Given the description of an element on the screen output the (x, y) to click on. 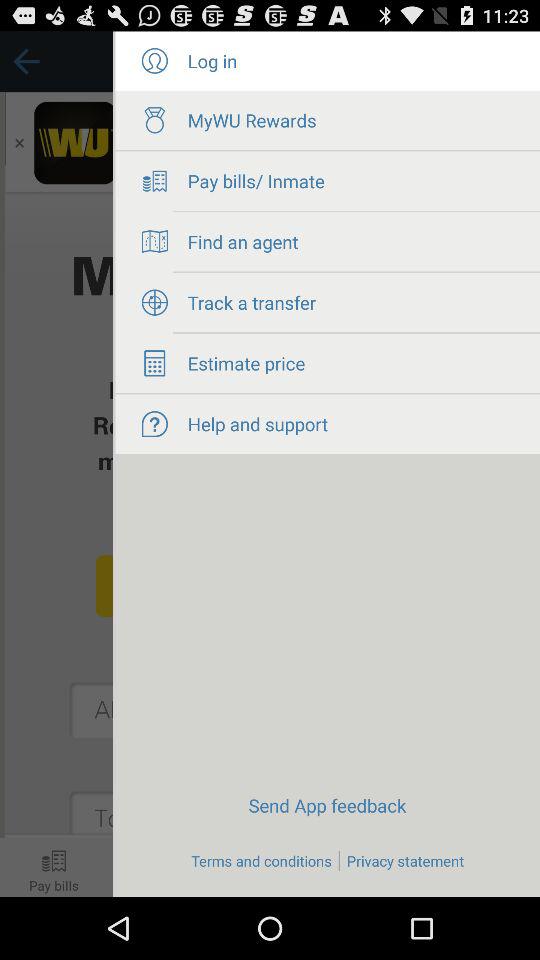
go on the page (56, 464)
